Given the description of an element on the screen output the (x, y) to click on. 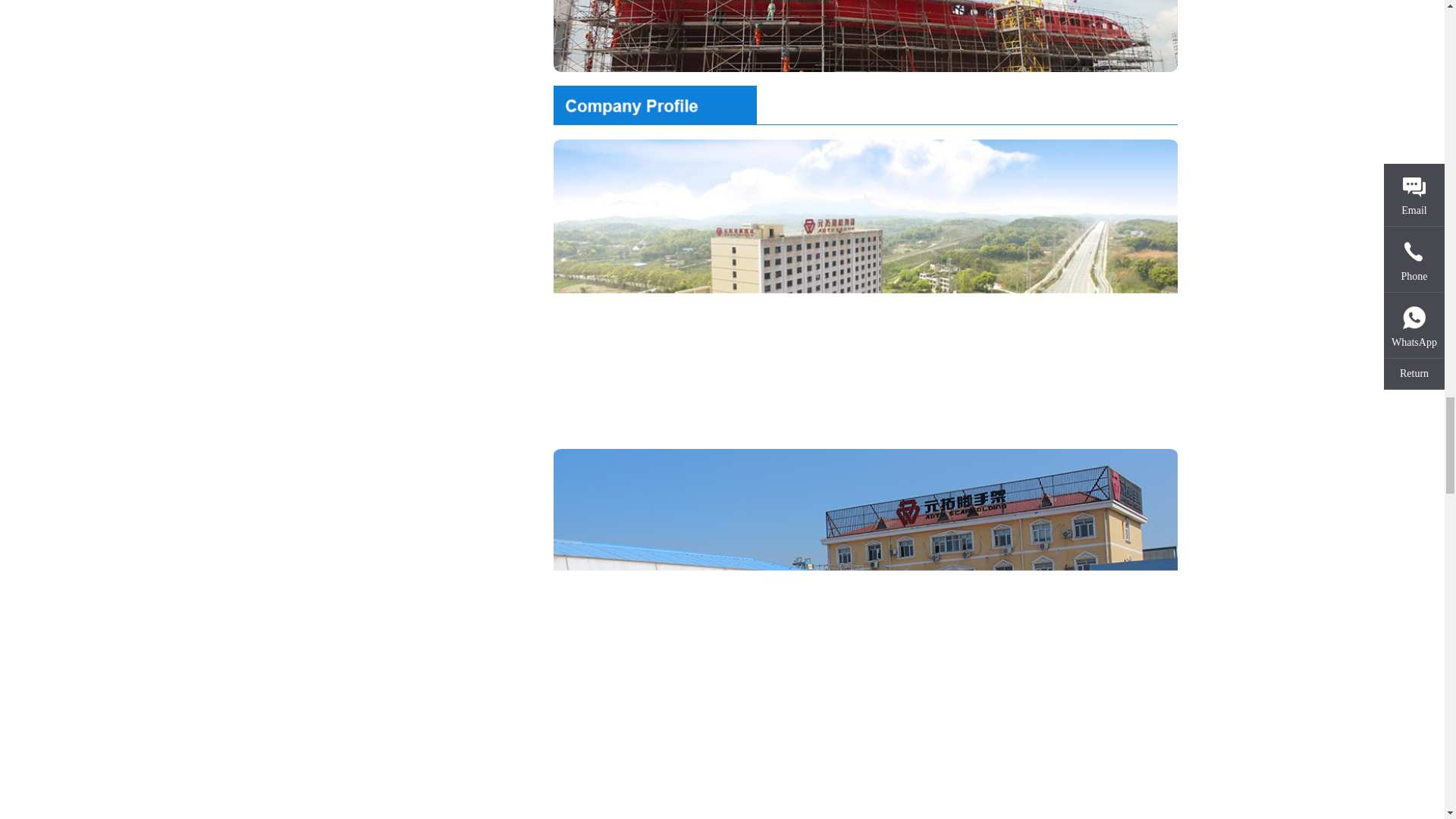
3.jpg (865, 36)
company introduction.png (865, 105)
